Given the description of an element on the screen output the (x, y) to click on. 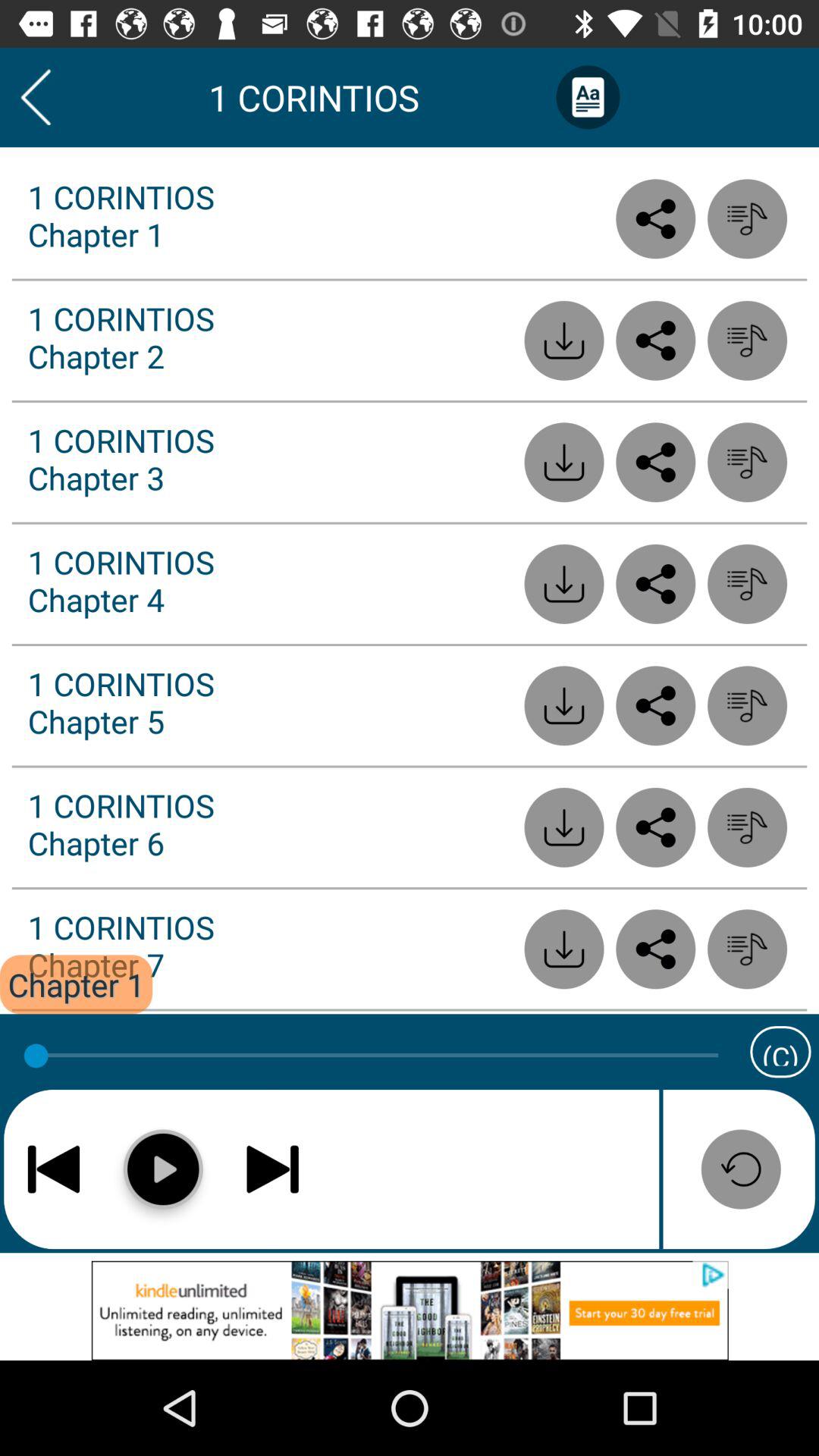
share button (655, 949)
